Given the description of an element on the screen output the (x, y) to click on. 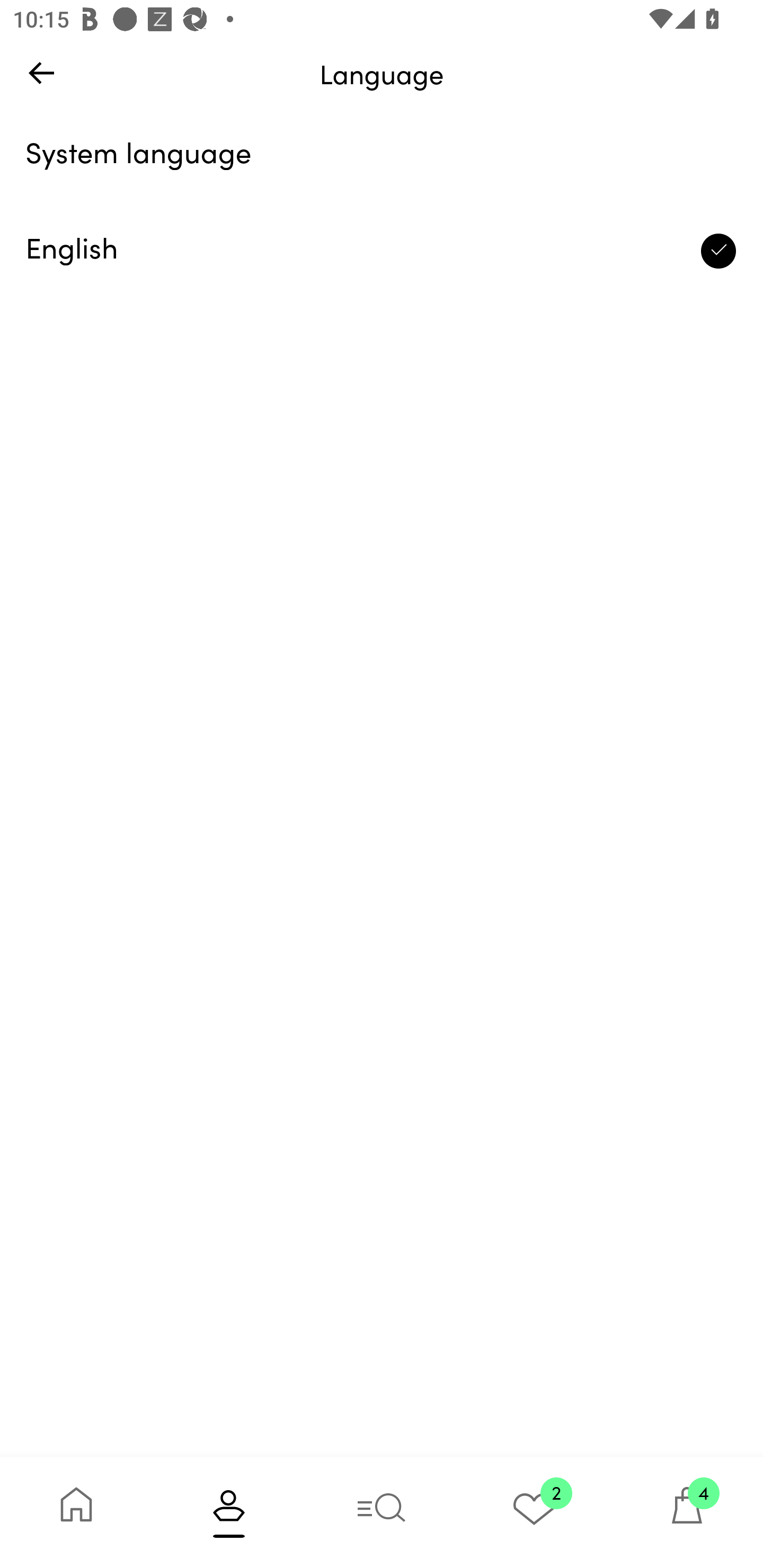
System language (381, 155)
English  (381, 251)
2 (533, 1512)
4 (686, 1512)
